Given the description of an element on the screen output the (x, y) to click on. 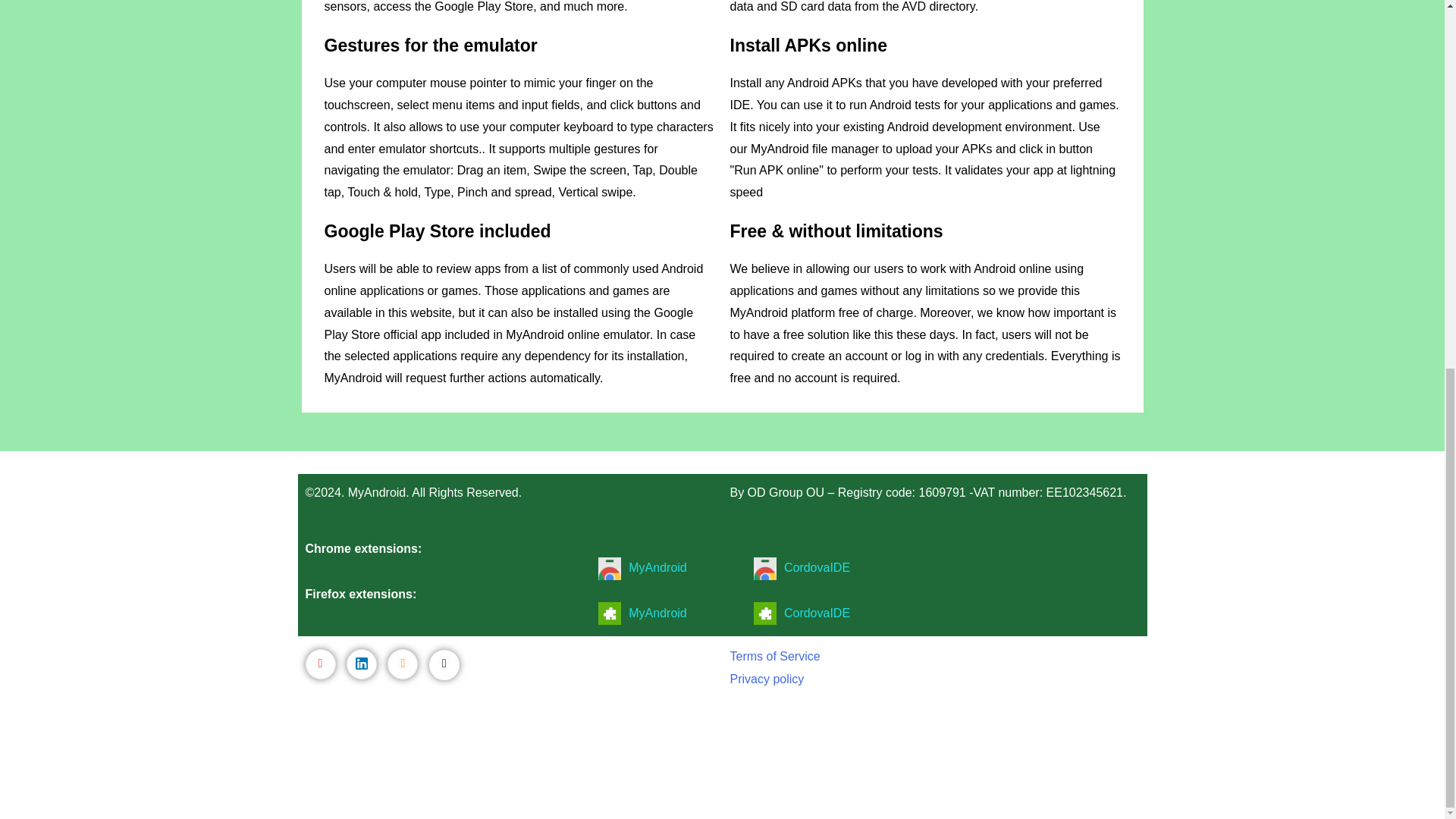
MyAndroid (656, 612)
CordovaIDE (817, 567)
MyAndroid (656, 567)
Privacy policy (766, 678)
Terms of Service (774, 656)
CordovaIDE (817, 612)
